Given the description of an element on the screen output the (x, y) to click on. 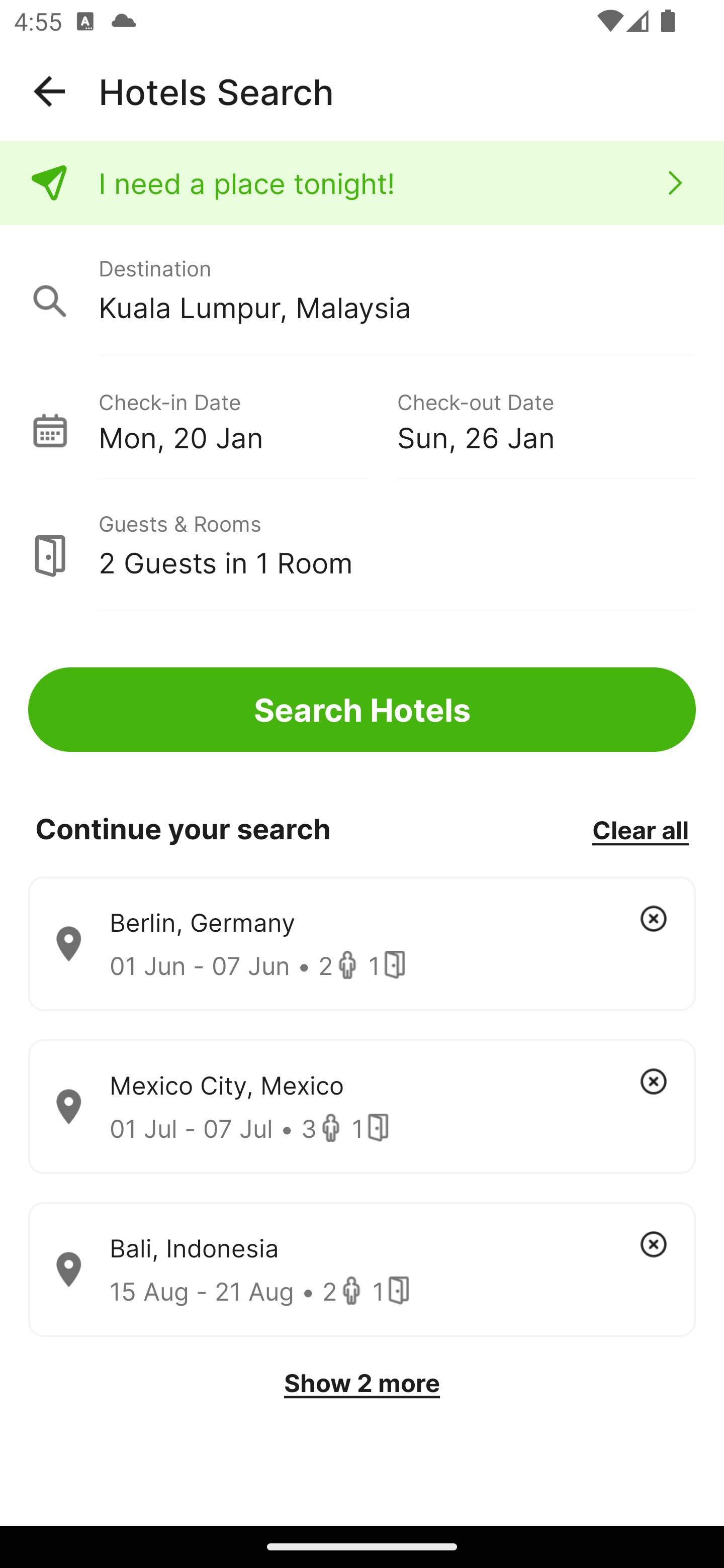
I need a place tonight! (362, 183)
Destination Kuala Lumpur, Malaysia (362, 290)
Check-in Date Mon, 20 Jan (247, 418)
Check-out Date Sun, 26 Jan (546, 418)
Guests & Rooms 2 Guests in 1 Room (362, 545)
Search Hotels (361, 709)
Clear all (640, 829)
Berlin, Germany 01 Jun - 07 Jun • 2  1  (361, 943)
Mexico City, Mexico 01 Jul - 07 Jul • 3  1  (361, 1106)
Bali, Indonesia 15 Aug - 21 Aug • 2  1  (361, 1269)
Show 2 more (362, 1382)
